Given the description of an element on the screen output the (x, y) to click on. 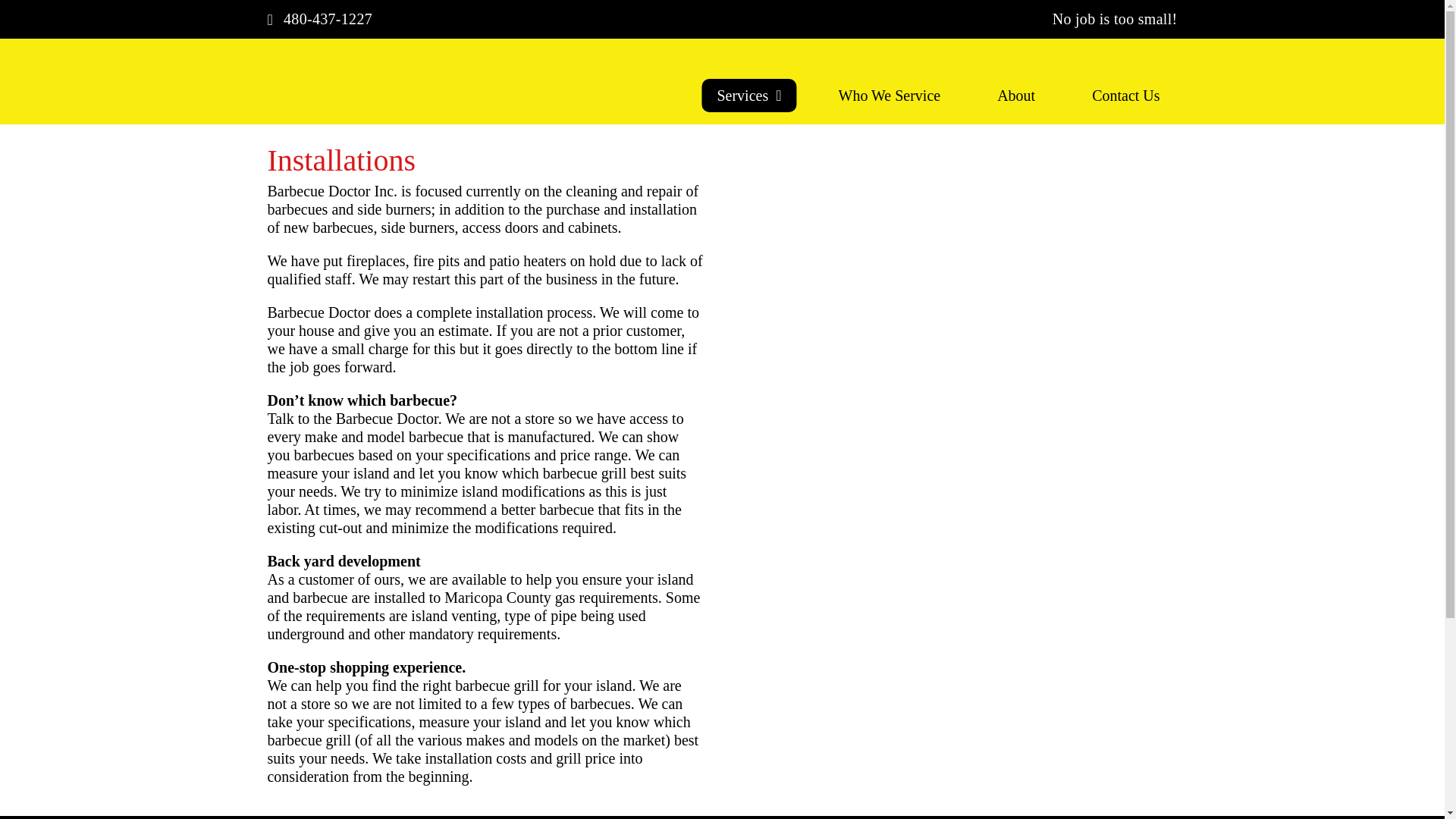
No job is too small! (1103, 19)
Contact Us (1125, 95)
Services (748, 95)
Who We Service (890, 95)
About (1015, 95)
480-437-1227 (330, 19)
